Given the description of an element on the screen output the (x, y) to click on. 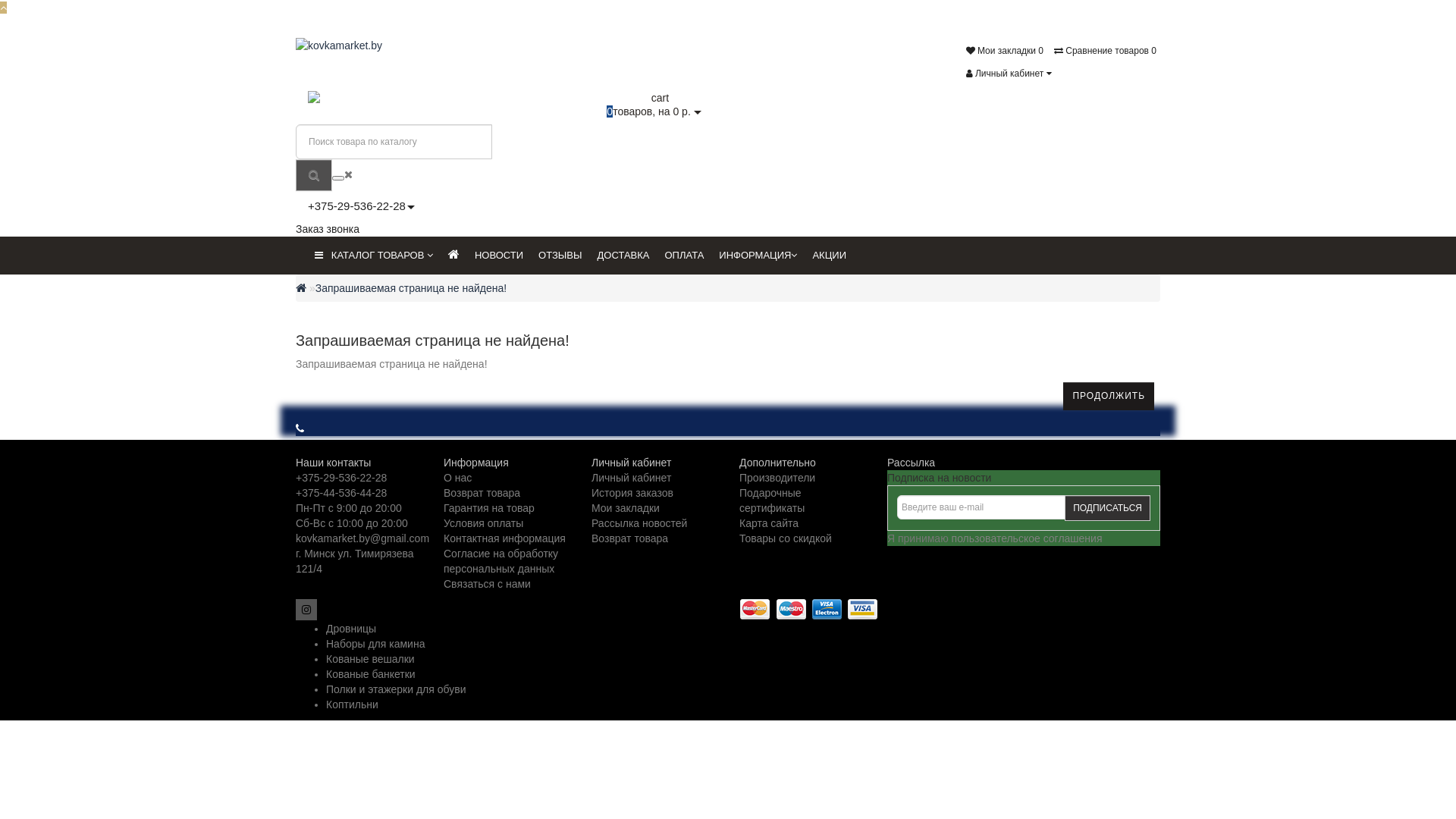
instagram Element type: hover (305, 609)
kovkamarket.by Element type: hover (357, 45)
+375-29-536-22-28 Element type: text (340, 477)
cart Element type: hover (653, 97)
payment Element type: hover (808, 609)
kovkamarket.by@gmail.com Element type: text (362, 538)
+375-44-536-44-28 Element type: text (340, 492)
